Given the description of an element on the screen output the (x, y) to click on. 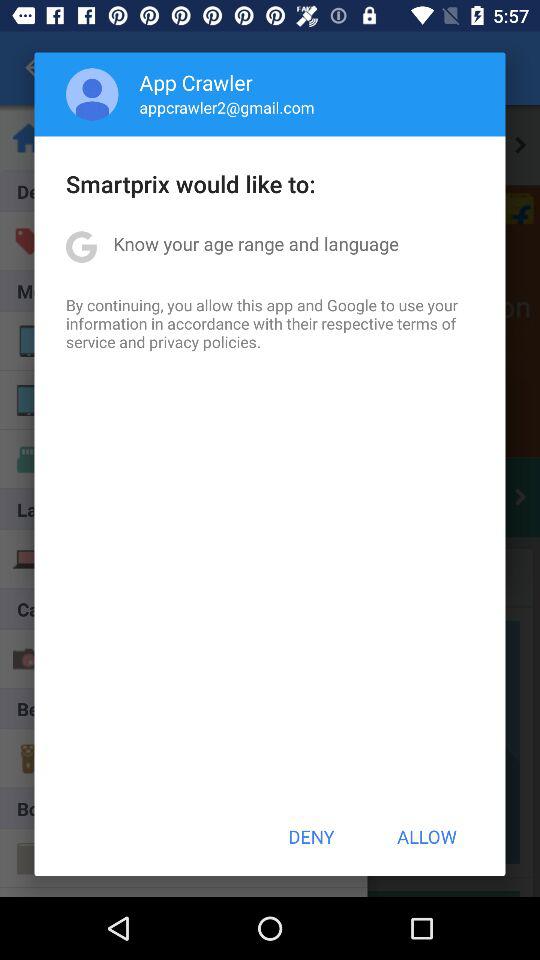
turn on the know your age icon (255, 243)
